Given the description of an element on the screen output the (x, y) to click on. 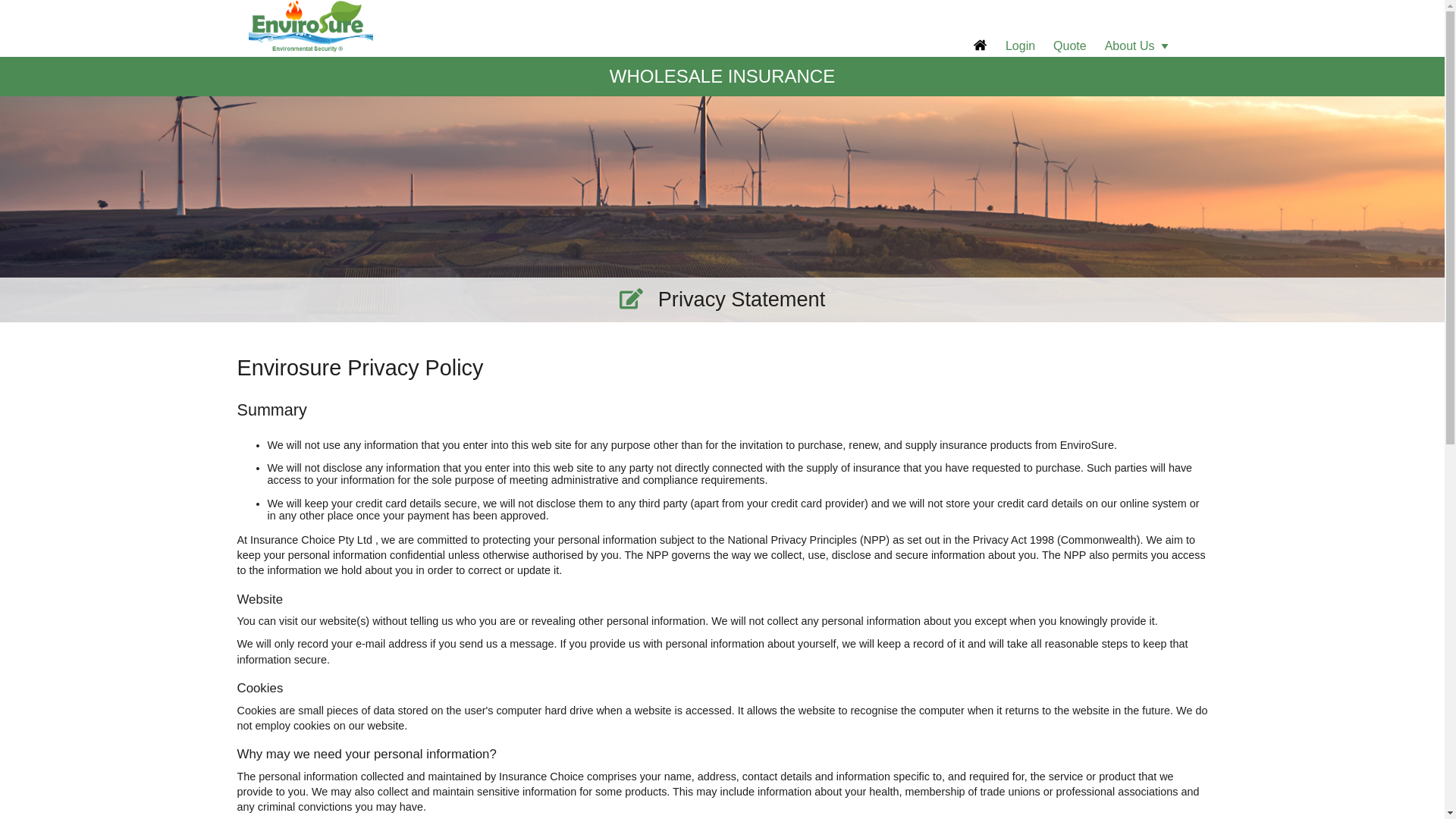
Login Element type: text (1020, 45)
Quote Element type: text (1069, 45)
